Given the description of an element on the screen output the (x, y) to click on. 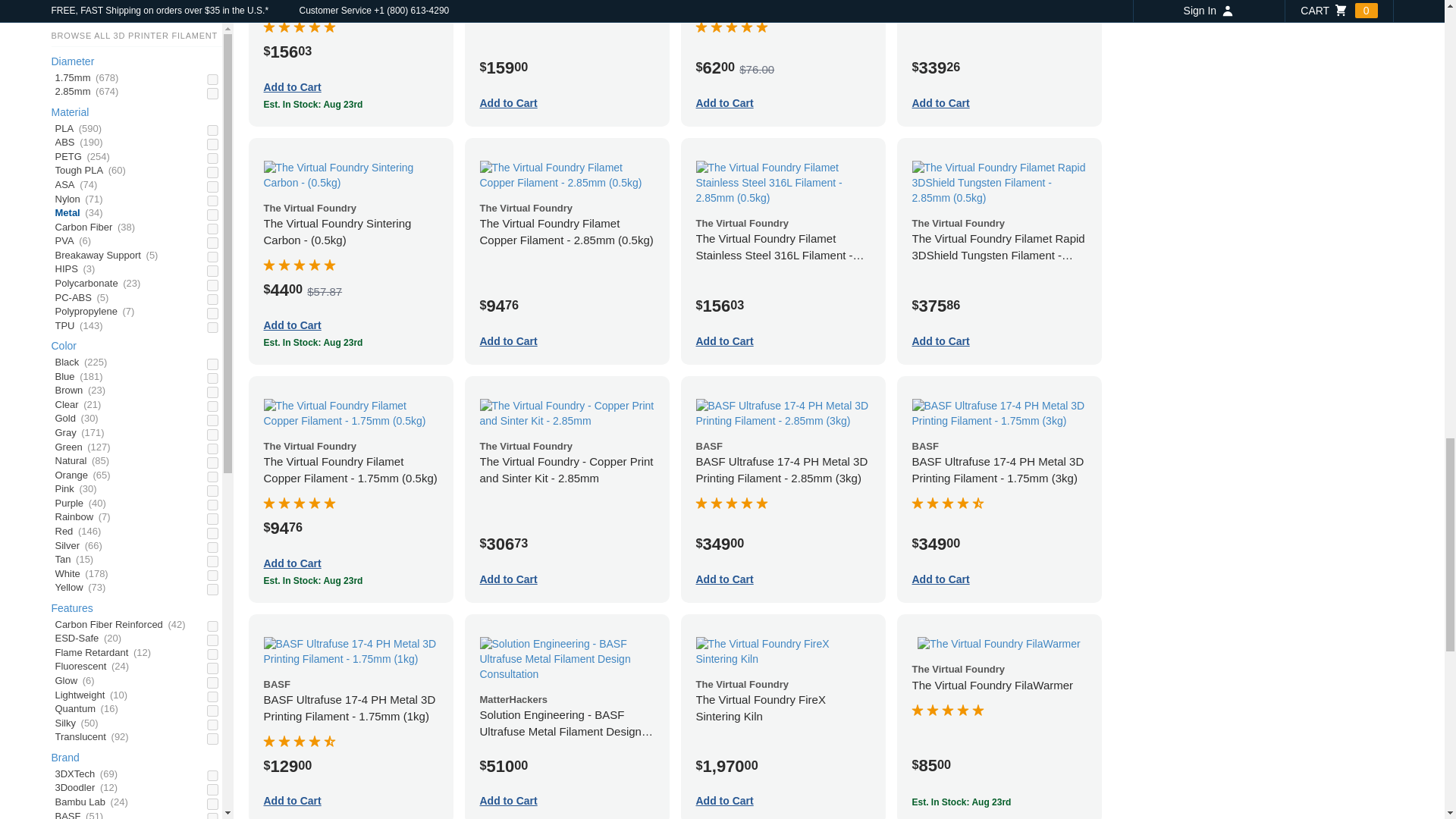
The Virtual Foundry FilaWarmer (998, 644)
